Given the description of an element on the screen output the (x, y) to click on. 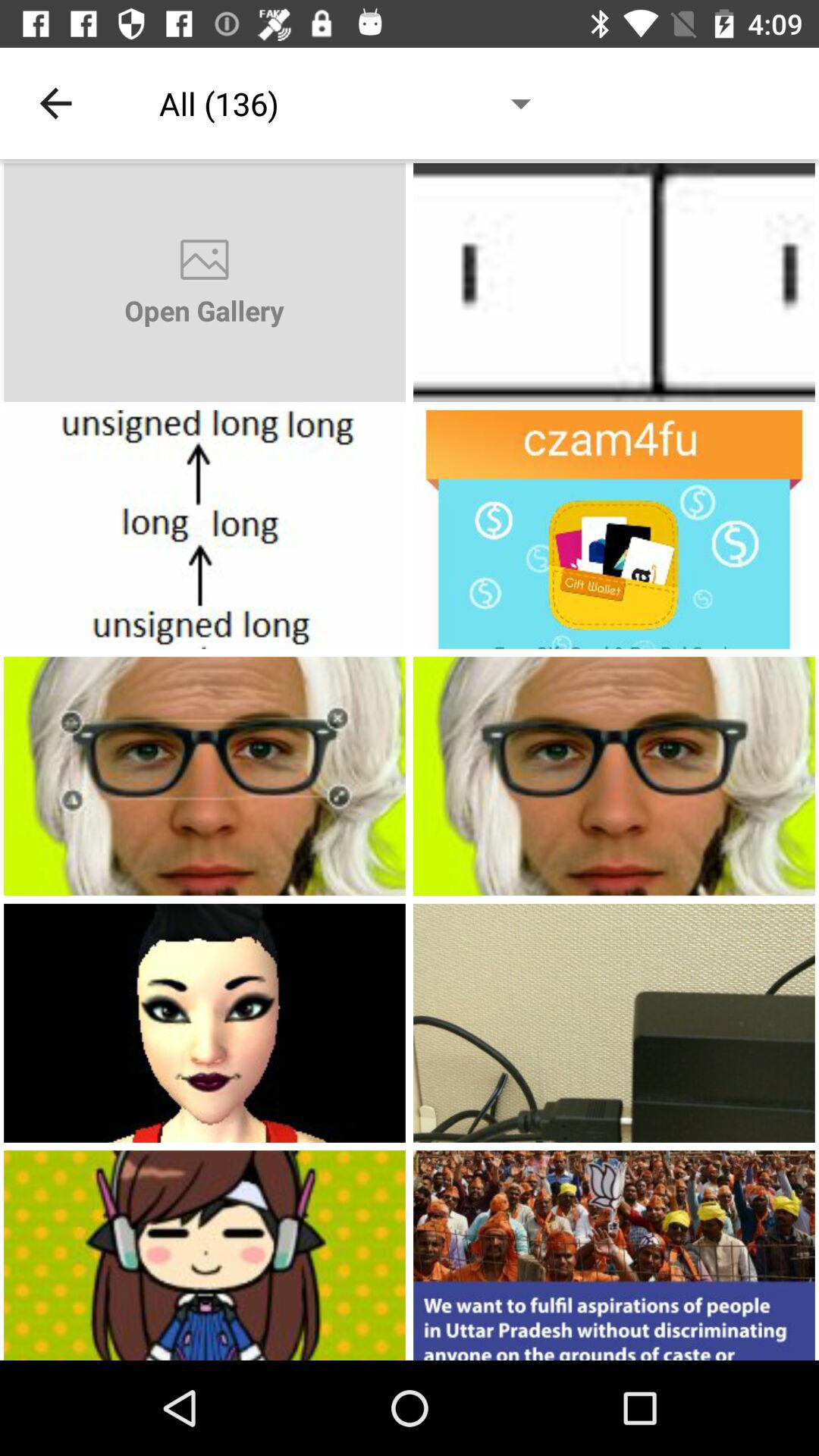
opens the selected image (614, 282)
